Given the description of an element on the screen output the (x, y) to click on. 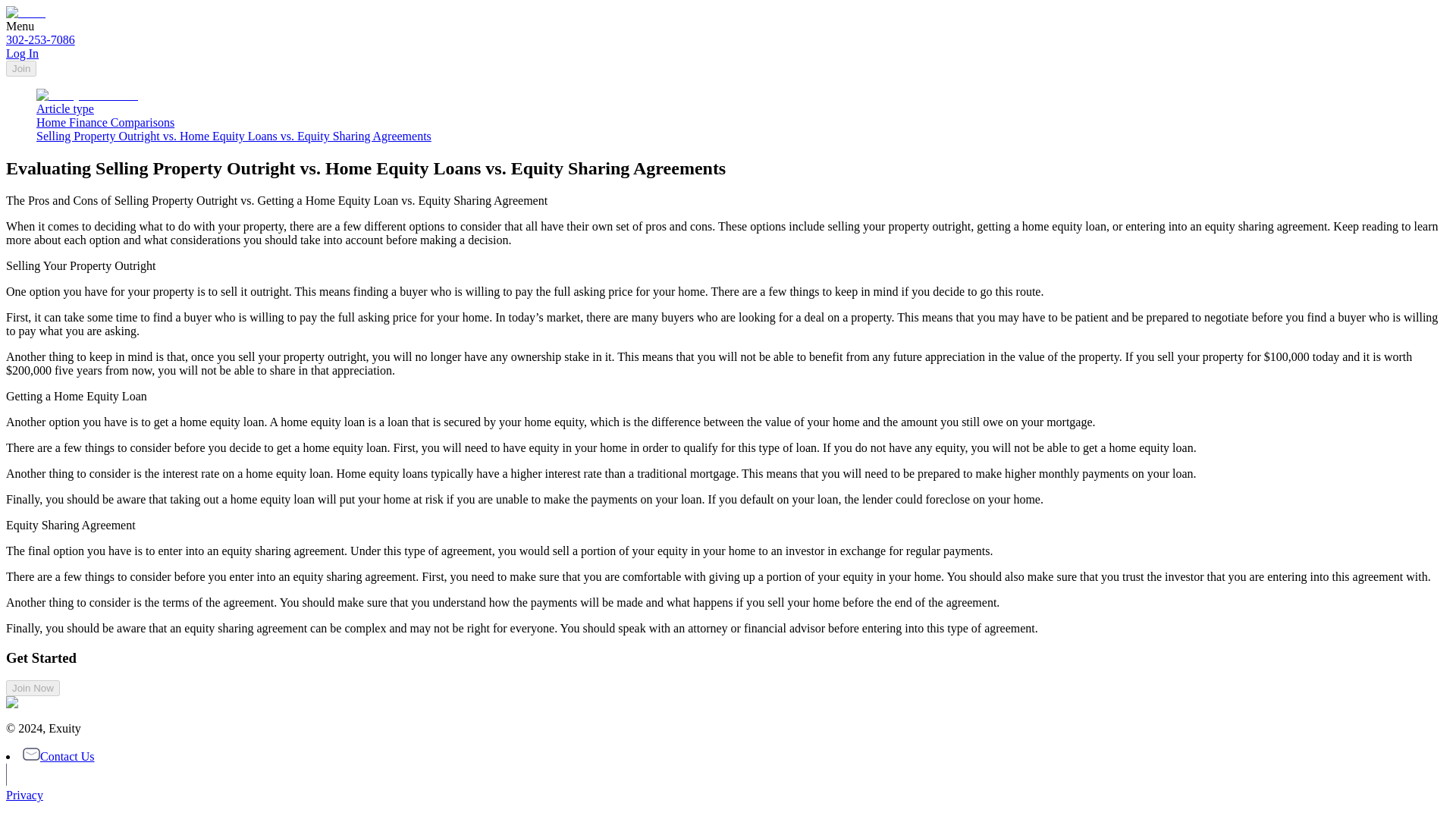
Home Finance Comparisons (105, 122)
302-253-7086 (40, 39)
Join Now (32, 688)
Article type (65, 108)
Join (20, 67)
Join Now (32, 686)
Log In (22, 52)
Join (20, 68)
Contact Us (58, 756)
